Given the description of an element on the screen output the (x, y) to click on. 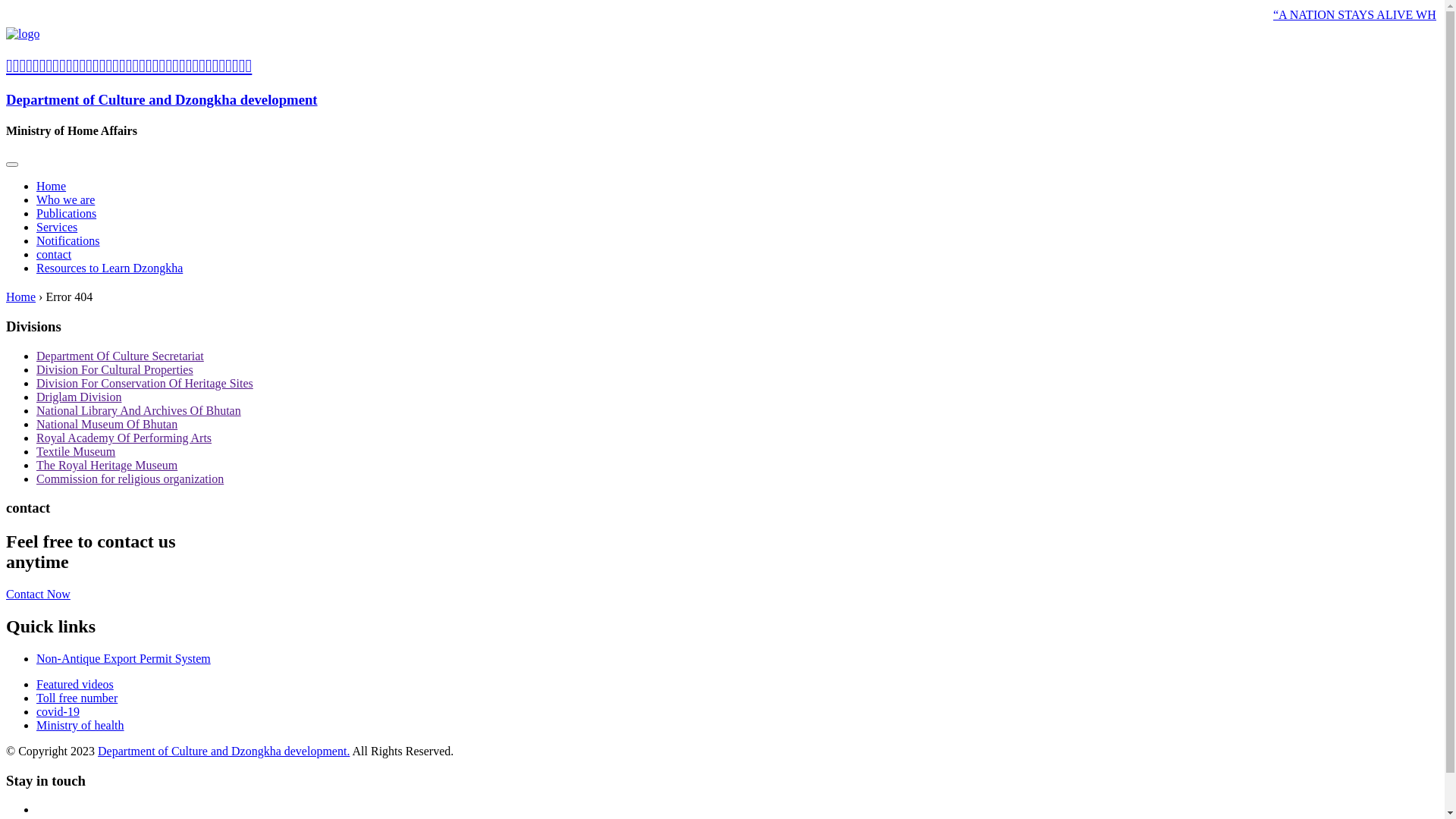
Who we are Element type: text (65, 199)
Department of Culture and Dzongkha development. Element type: text (223, 750)
Contact Now Element type: text (38, 593)
Commission for religious organization Element type: text (129, 478)
Ministry of health Element type: text (80, 724)
Home Element type: text (50, 185)
Division For Cultural Properties Element type: text (114, 369)
Services Element type: text (56, 226)
Publications Element type: text (66, 213)
Department Of Culture Secretariat Element type: text (119, 355)
Notifications Element type: text (68, 240)
contact Element type: text (53, 253)
Home Element type: text (20, 296)
National Library And Archives Of Bhutan Element type: text (138, 410)
National Museum Of Bhutan Element type: text (106, 423)
Featured videos Element type: text (74, 683)
covid-19 Element type: text (57, 711)
Driglam Division Element type: text (78, 396)
Non-Antique Export Permit System Element type: text (737, 658)
Royal Academy Of Performing Arts Element type: text (123, 437)
Toll free number Element type: text (76, 697)
Division For Conservation Of Heritage Sites Element type: text (144, 382)
Resources to Learn Dzongkha Element type: text (109, 267)
Textile Museum Element type: text (75, 451)
The Royal Heritage Museum Element type: text (106, 464)
